Given the description of an element on the screen output the (x, y) to click on. 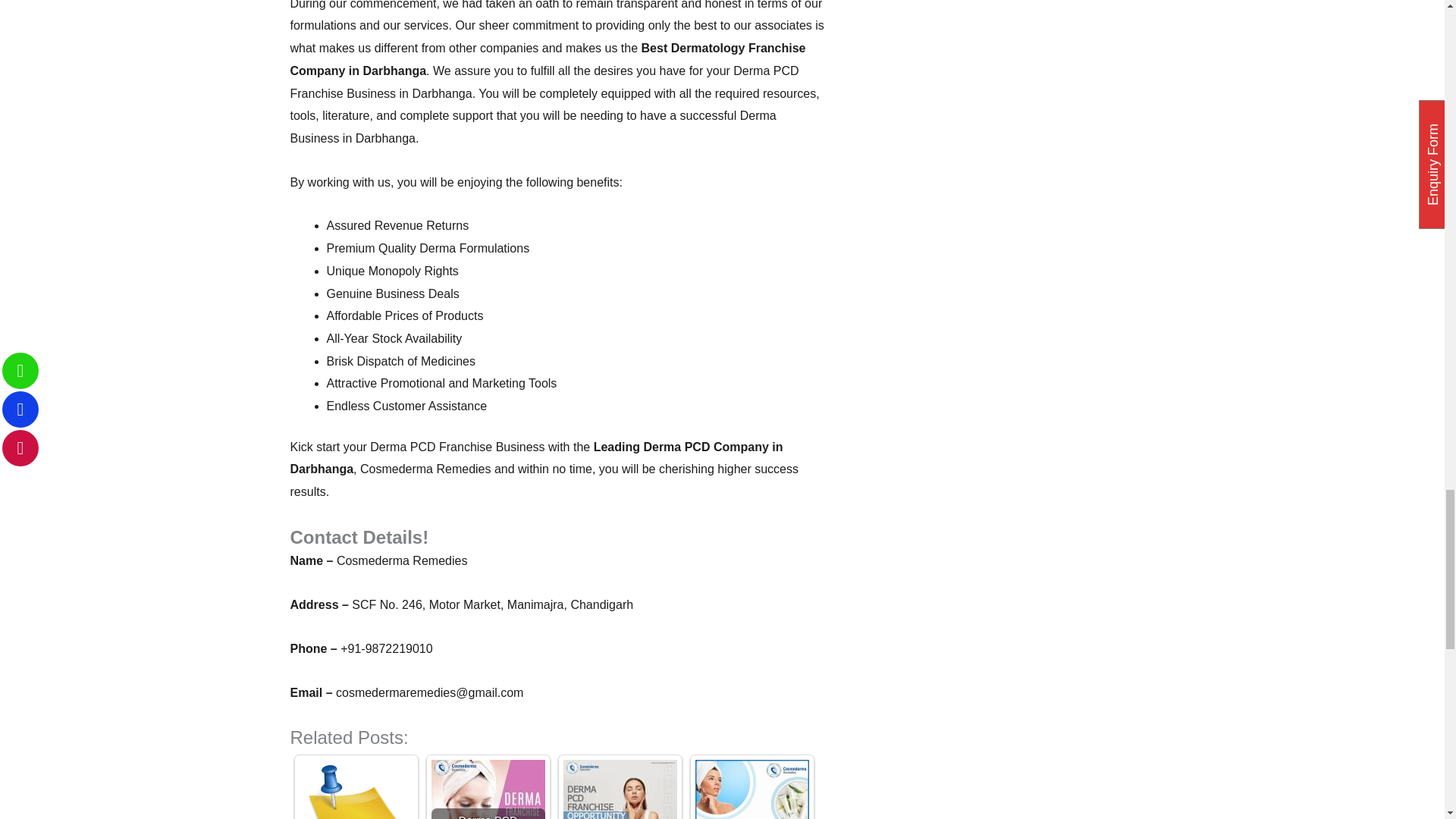
Best Derma Products List in India (355, 789)
Derma PCD Franchise in Tamil Nadu (487, 789)
Pharma Franchise for Anti Scar Medicine (619, 789)
Derma PCD Franchise in Bihar (751, 789)
